Given the description of an element on the screen output the (x, y) to click on. 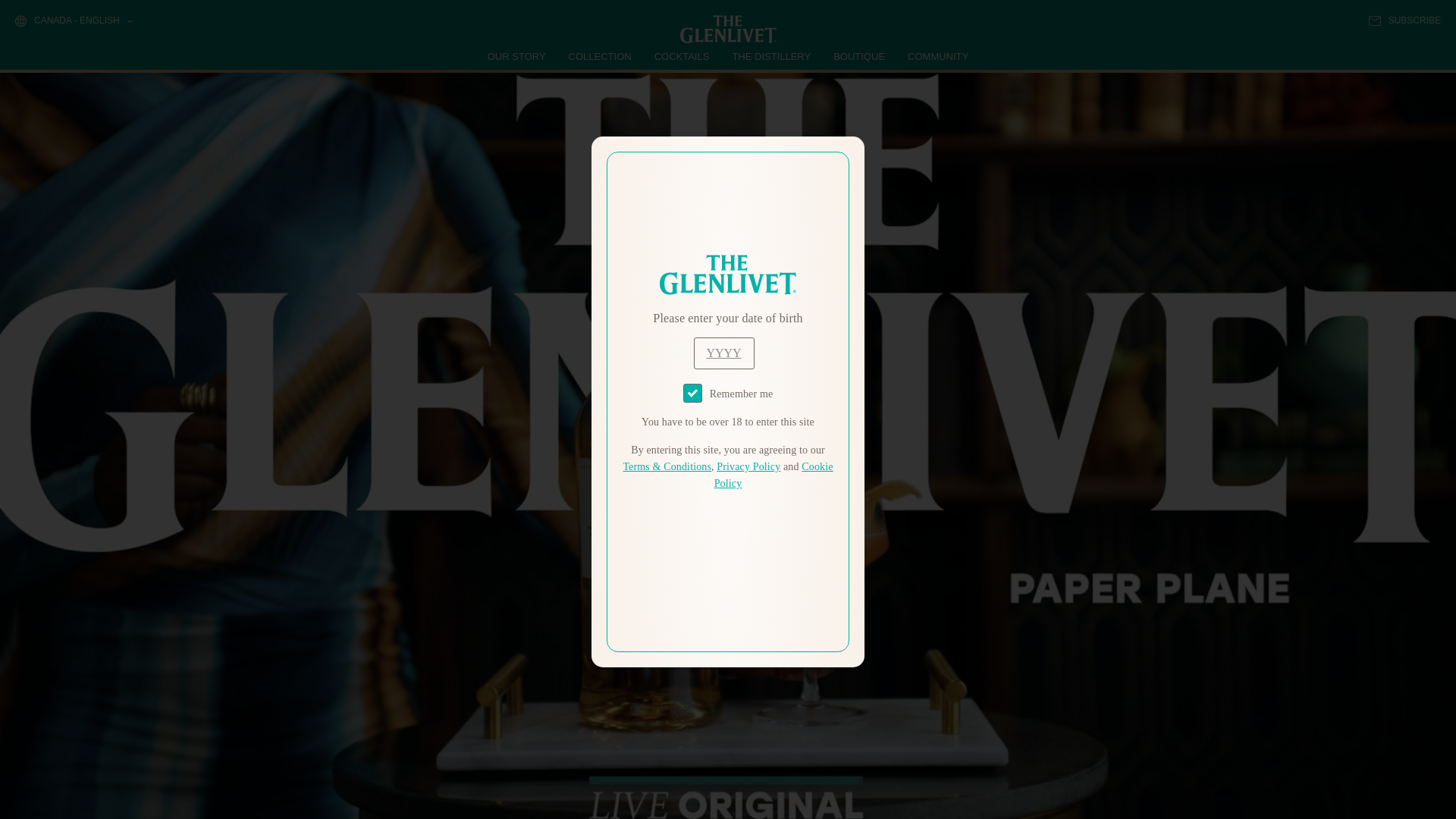
COLLECTION (600, 56)
SUBSCRIBE (1404, 20)
BOUTIQUE (858, 56)
CANADA - ENGLISH (73, 21)
Privacy Policy (748, 466)
COMMUNITY (937, 56)
COCKTAILS (681, 56)
year (723, 353)
Cookie Policy (773, 474)
OUR STORY (516, 56)
THE DISTILLERY (771, 56)
